Given the description of an element on the screen output the (x, y) to click on. 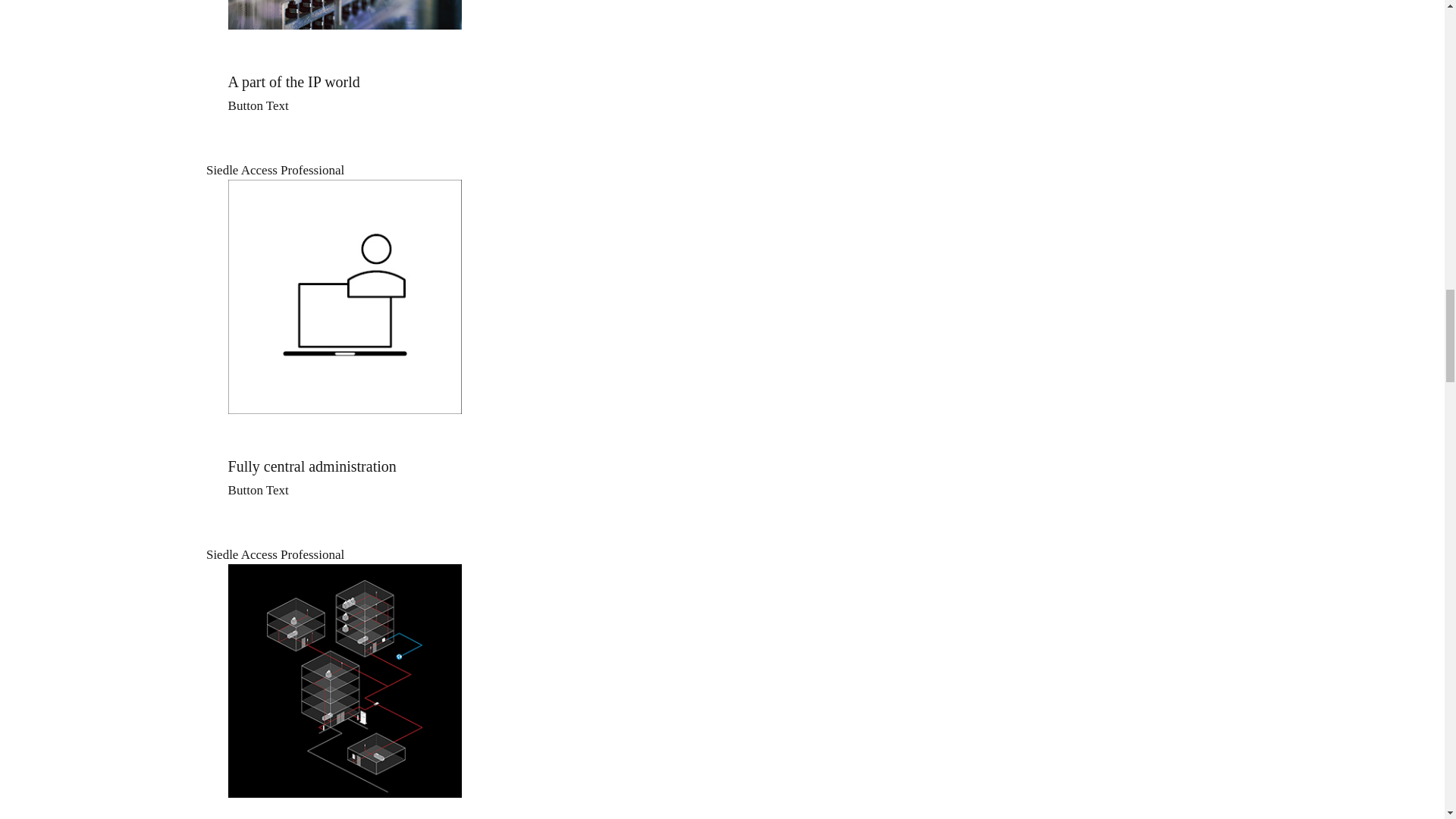
Siedle Access Professional (717, 554)
Siedle Access Professional (344, 93)
